Given the description of an element on the screen output the (x, y) to click on. 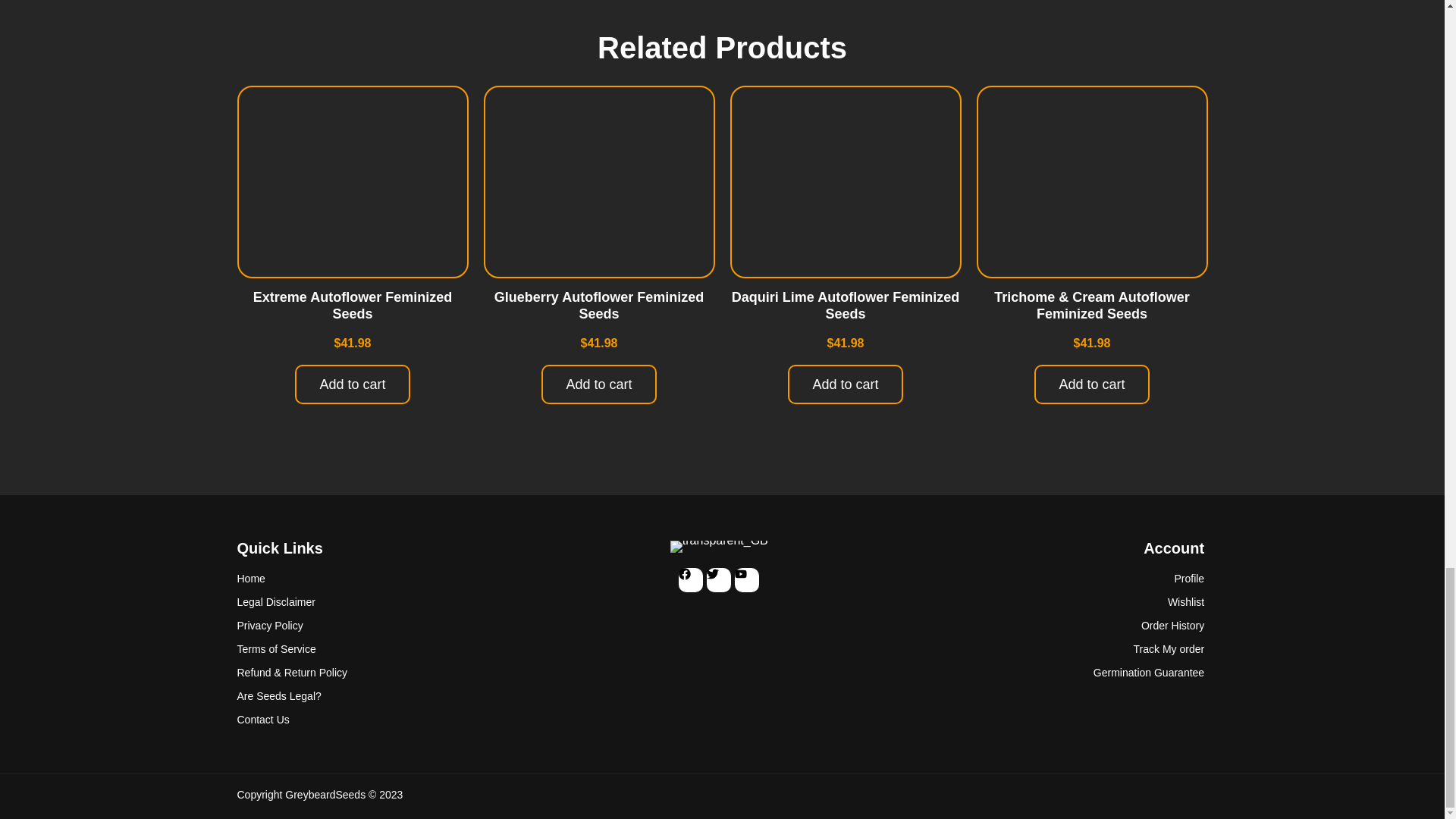
Add to cart (1090, 384)
Glueberry Autoflower Feminized Seeds (599, 305)
Add to cart (352, 384)
Extreme Autoflower Feminized Seeds (352, 305)
Add to cart (844, 384)
Daquiri Lime Autoflower Feminized Seeds (845, 305)
Add to cart (598, 384)
